Given the description of an element on the screen output the (x, y) to click on. 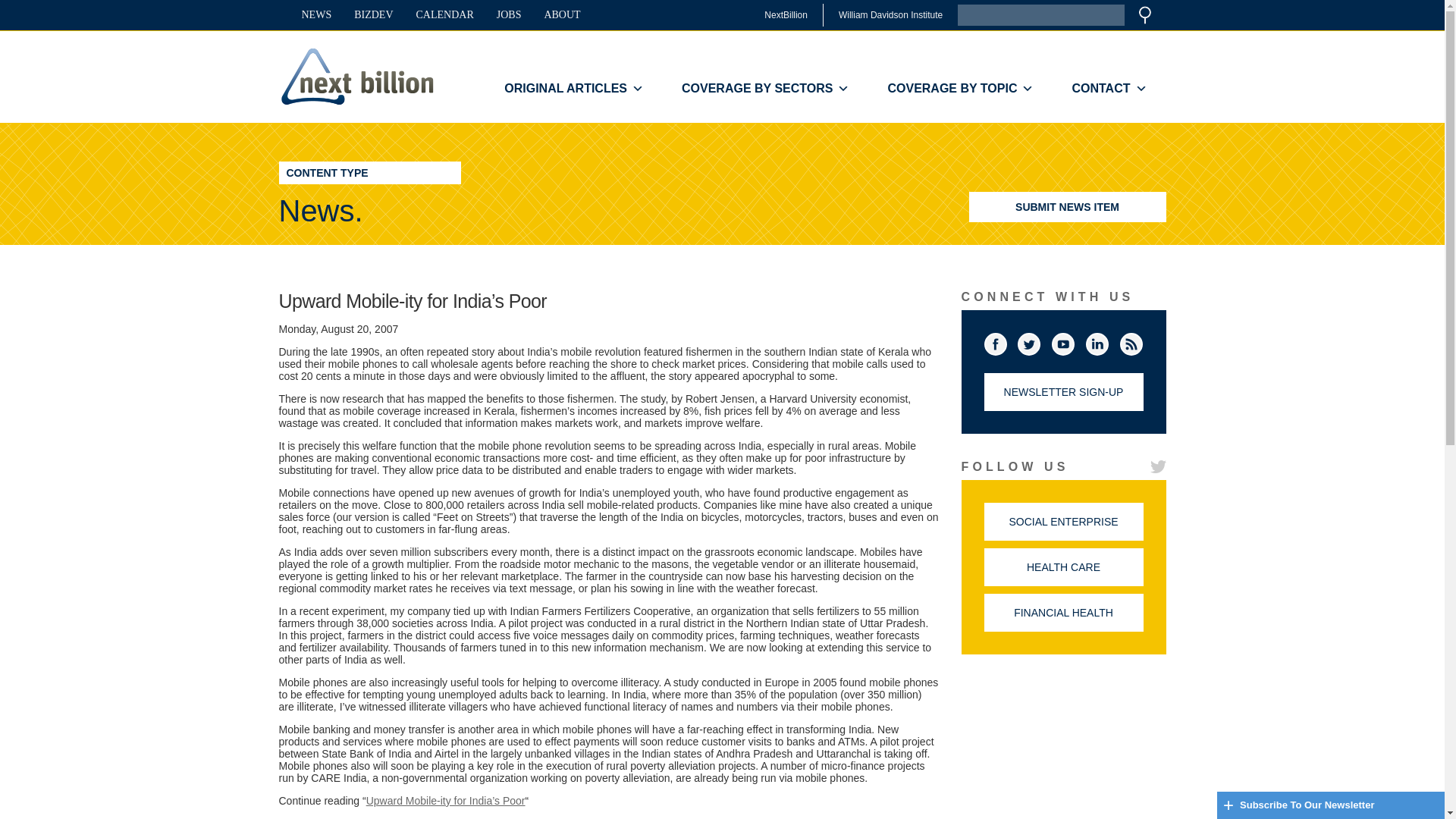
COVERAGE BY TOPIC (959, 88)
ORIGINAL ARTICLES (573, 88)
Search (1144, 14)
COVERAGE BY SECTORS (764, 88)
